Given the description of an element on the screen output the (x, y) to click on. 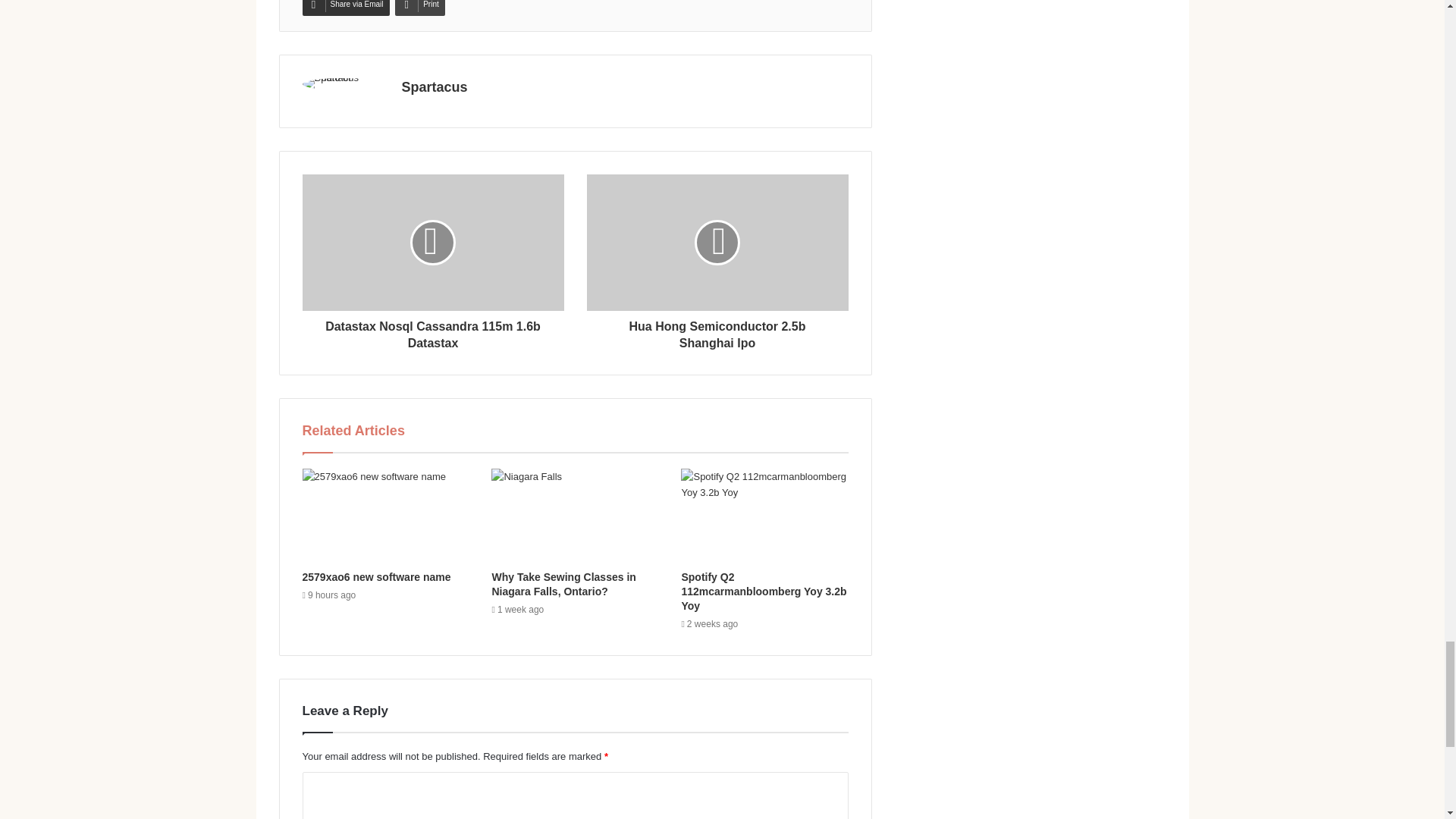
Print (419, 7)
Share via Email (344, 7)
Spartacus (434, 87)
